Given the description of an element on the screen output the (x, y) to click on. 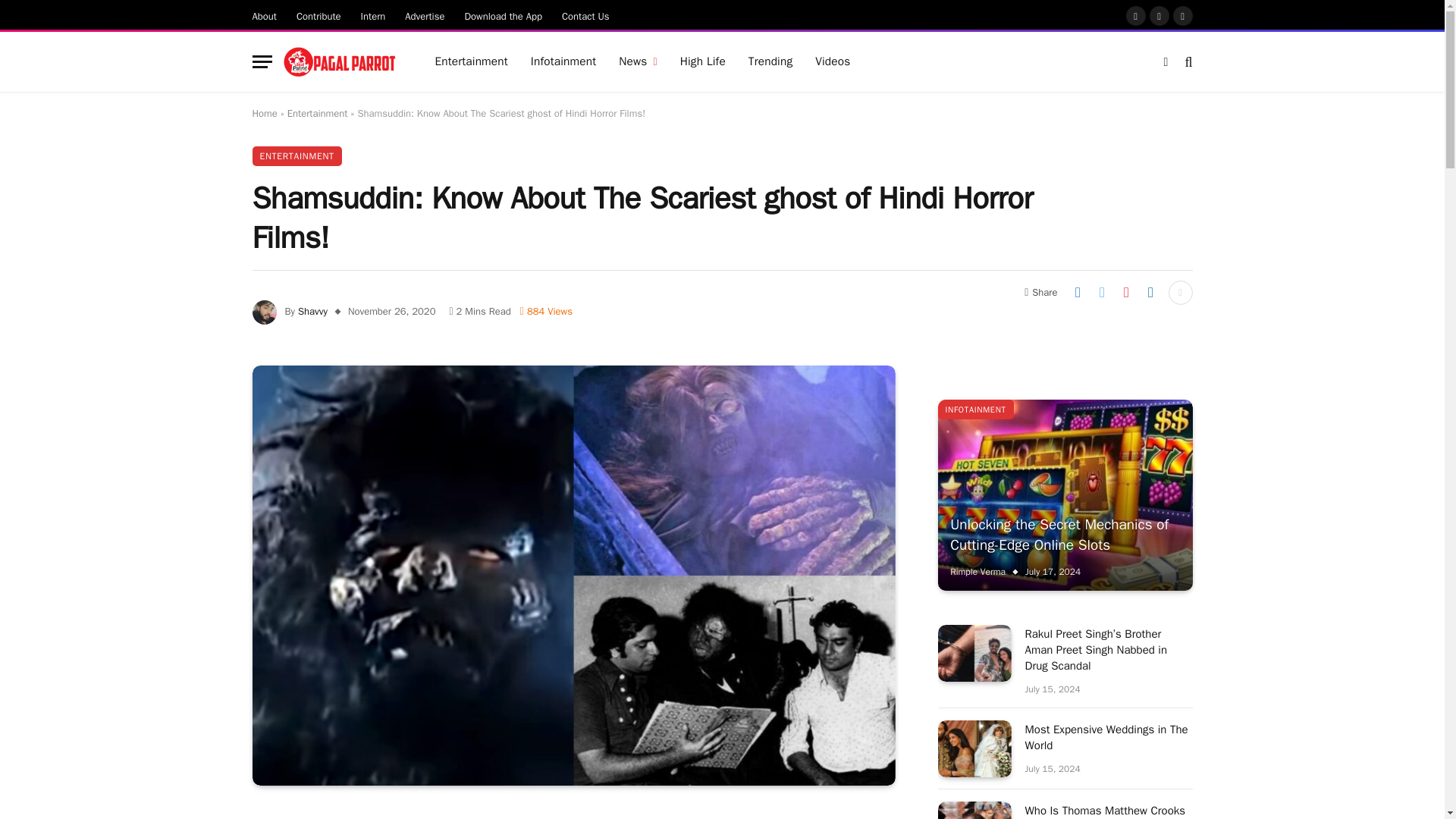
About (264, 15)
Switch to Dark Design - easier on eyes. (1165, 61)
Intern (373, 15)
PagalParrot (340, 62)
Contribute (318, 15)
Download the App (503, 15)
Advertise (424, 15)
Contact Us (585, 15)
